Given the description of an element on the screen output the (x, y) to click on. 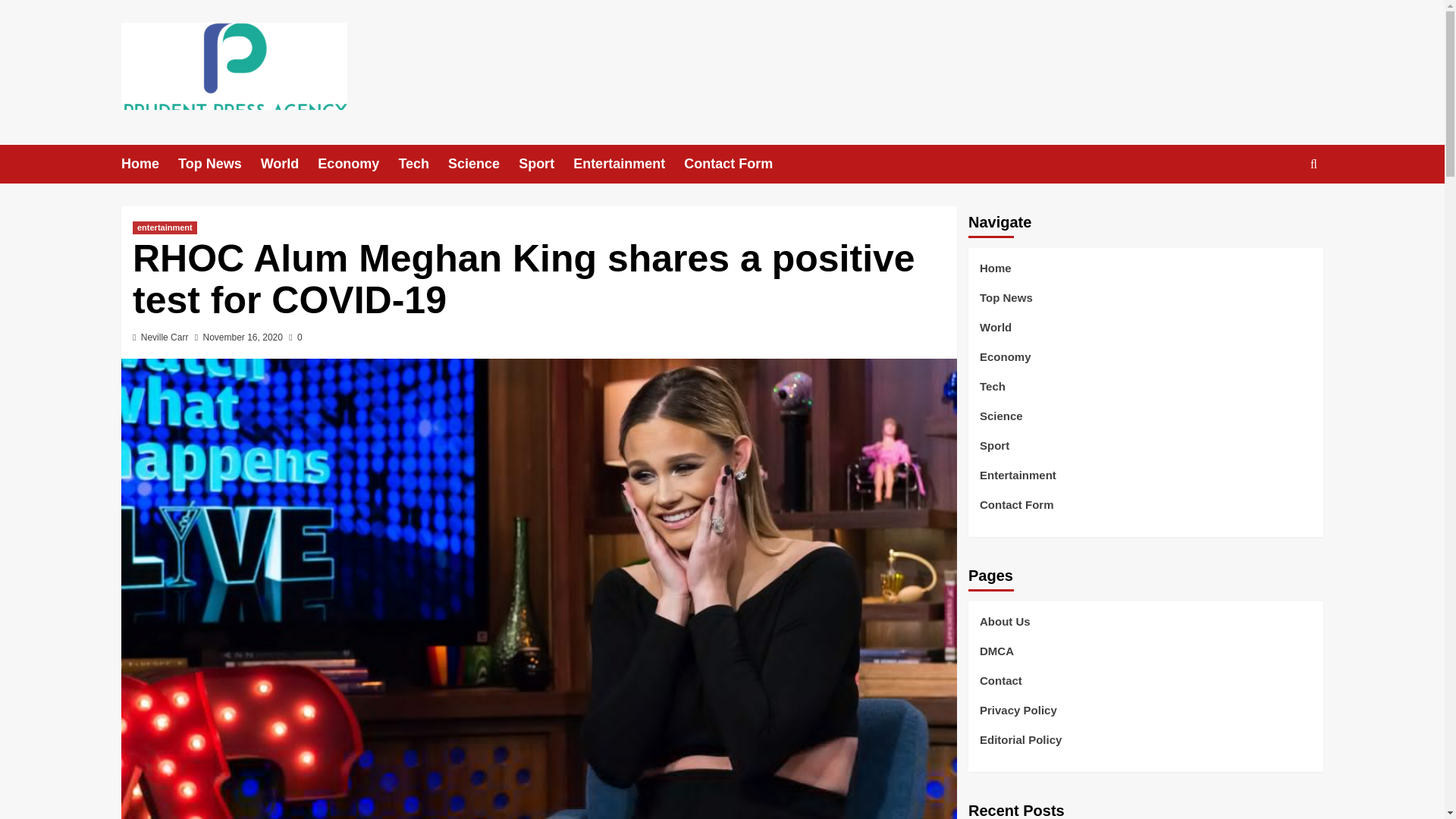
0 (294, 337)
Economy (357, 163)
Search (1313, 162)
World (289, 163)
November 16, 2020 (242, 337)
Tech (422, 163)
Entertainment (628, 163)
Top News (218, 163)
Sport (545, 163)
entertainment (164, 227)
Contact Form (738, 163)
Science (483, 163)
Neville Carr (165, 337)
Home (148, 163)
Search (1278, 211)
